Given the description of an element on the screen output the (x, y) to click on. 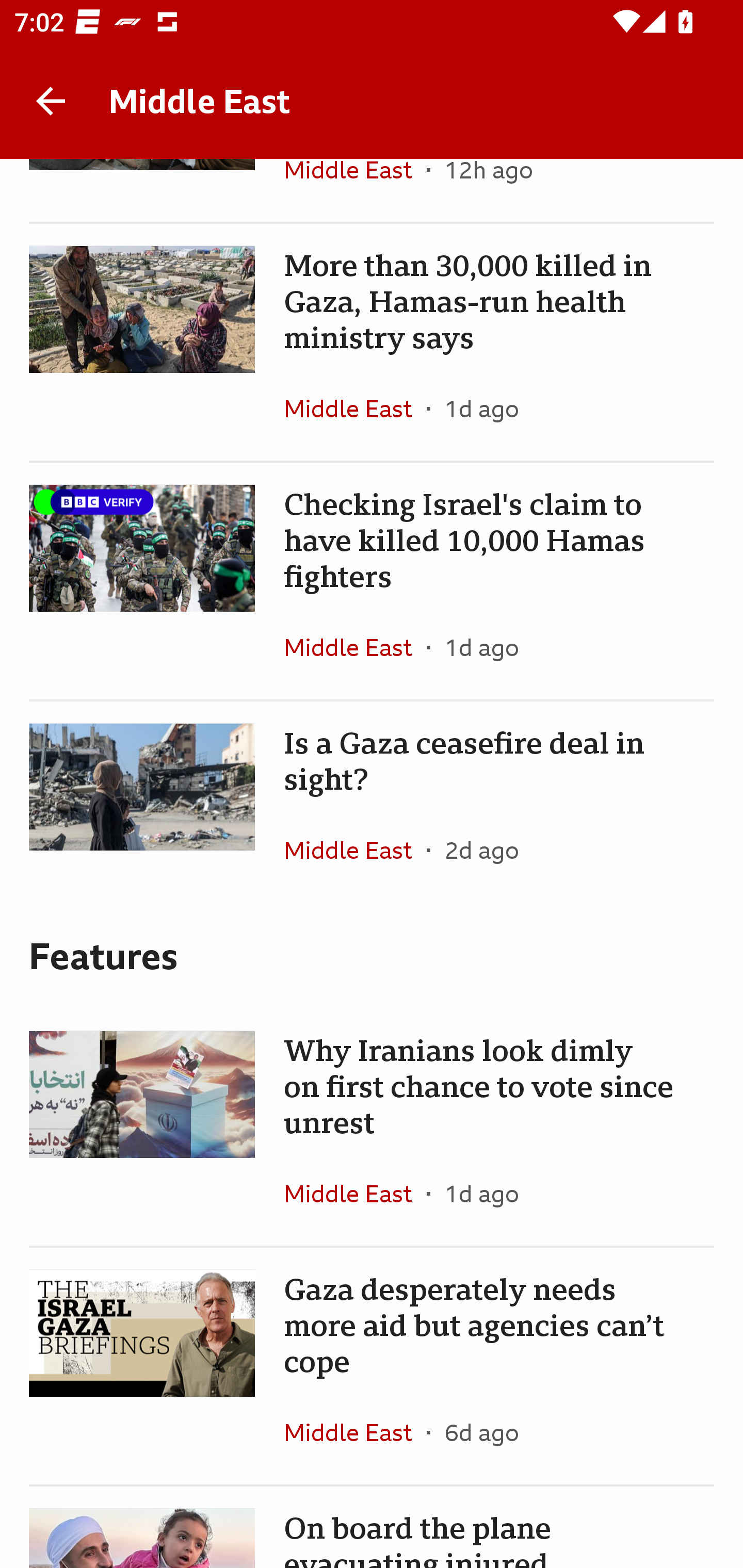
Back (50, 101)
Middle East In the section Middle East (354, 189)
Middle East In the section Middle East (354, 407)
Middle East In the section Middle East (354, 647)
Middle East In the section Middle East (354, 849)
Middle East In the section Middle East (354, 1192)
Middle East In the section Middle East (354, 1431)
On board the plane evacuating injured Palestinians (371, 1527)
